Given the description of an element on the screen output the (x, y) to click on. 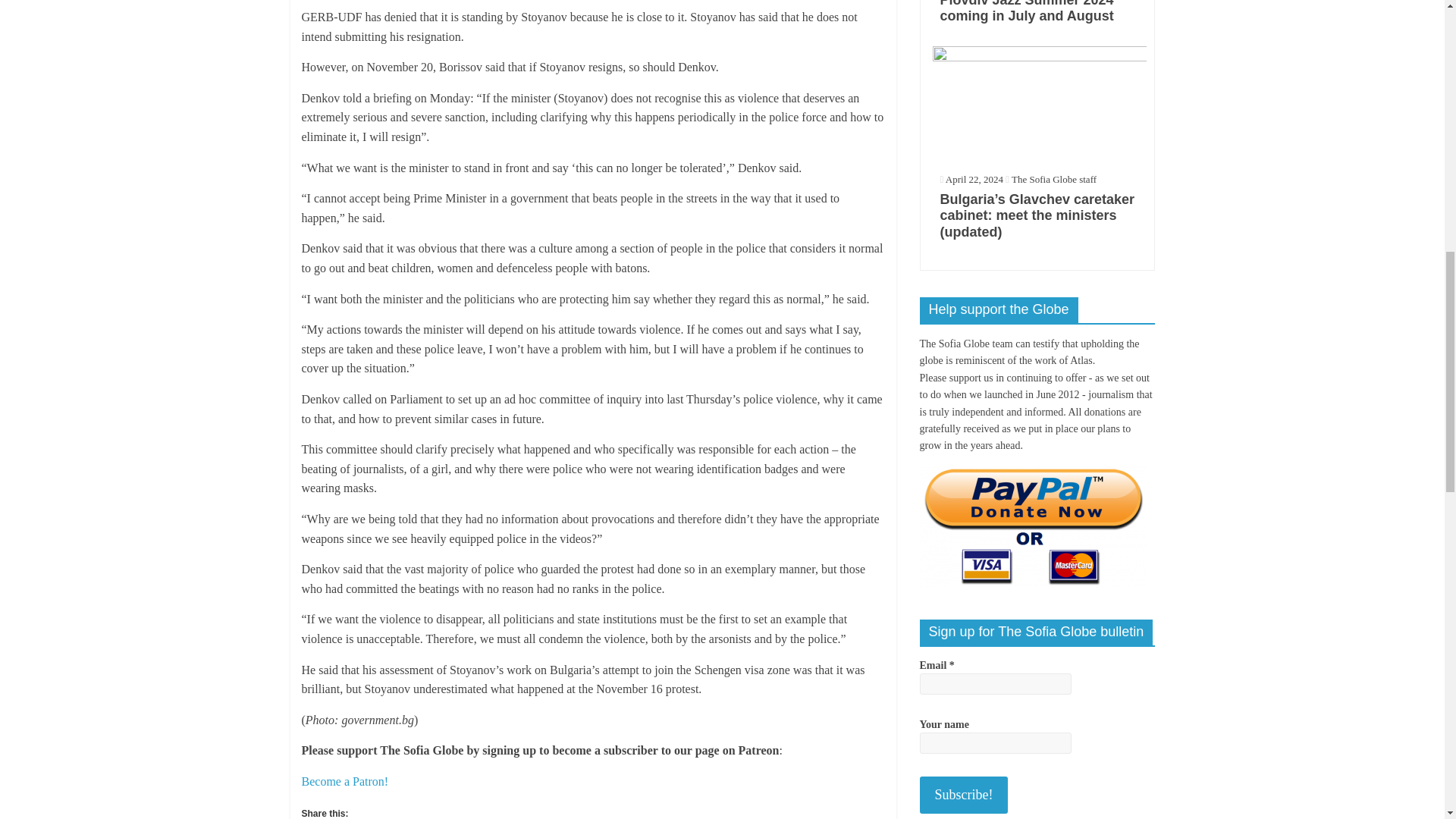
Become a Patron! (344, 780)
Subscribe! (962, 795)
